Given the description of an element on the screen output the (x, y) to click on. 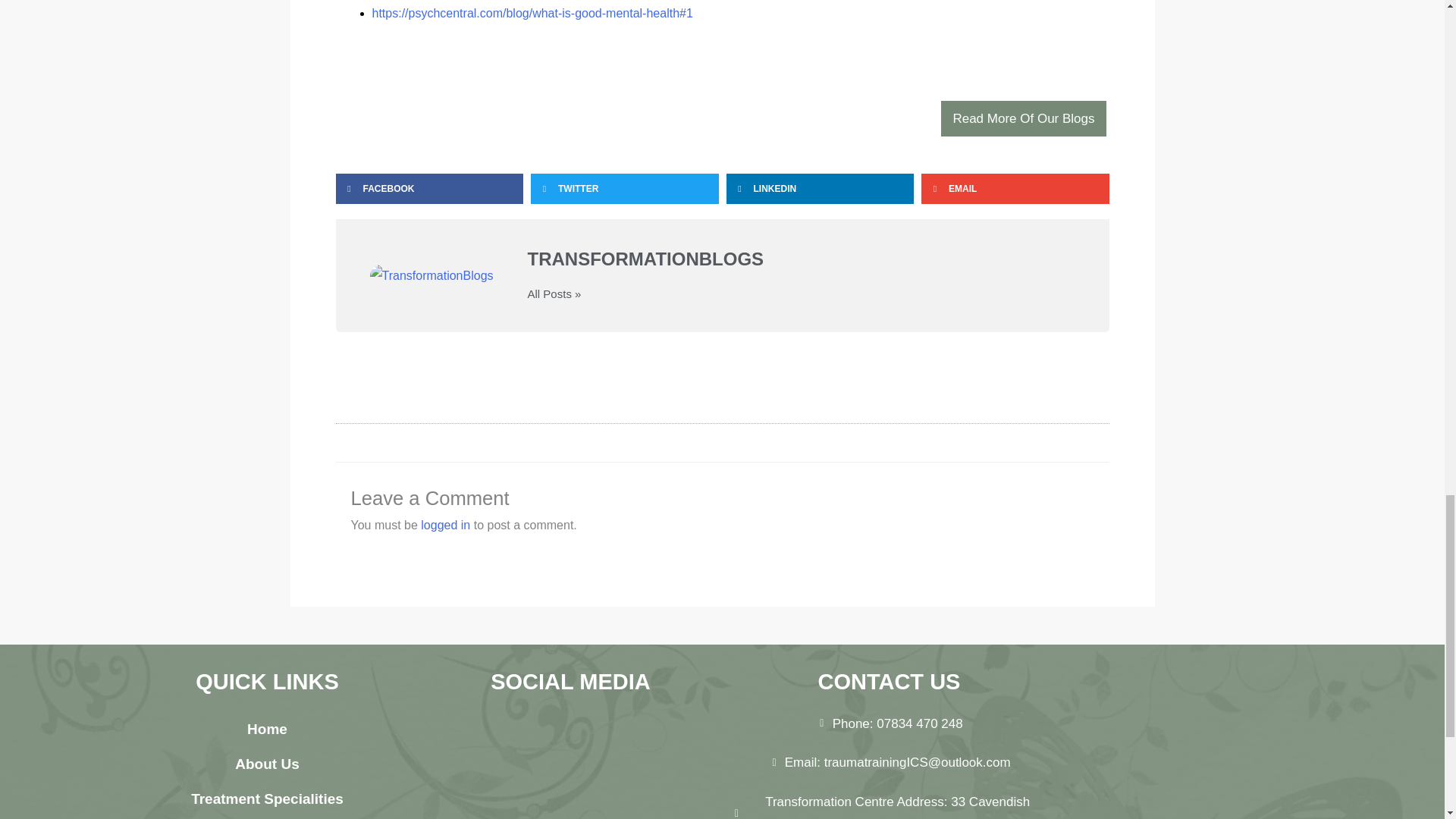
Read More Of Our Blogs (1022, 118)
logged in (445, 524)
TRANSFORMATIONBLOGS (801, 258)
33 Cavendish Square (1191, 796)
